Given the description of an element on the screen output the (x, y) to click on. 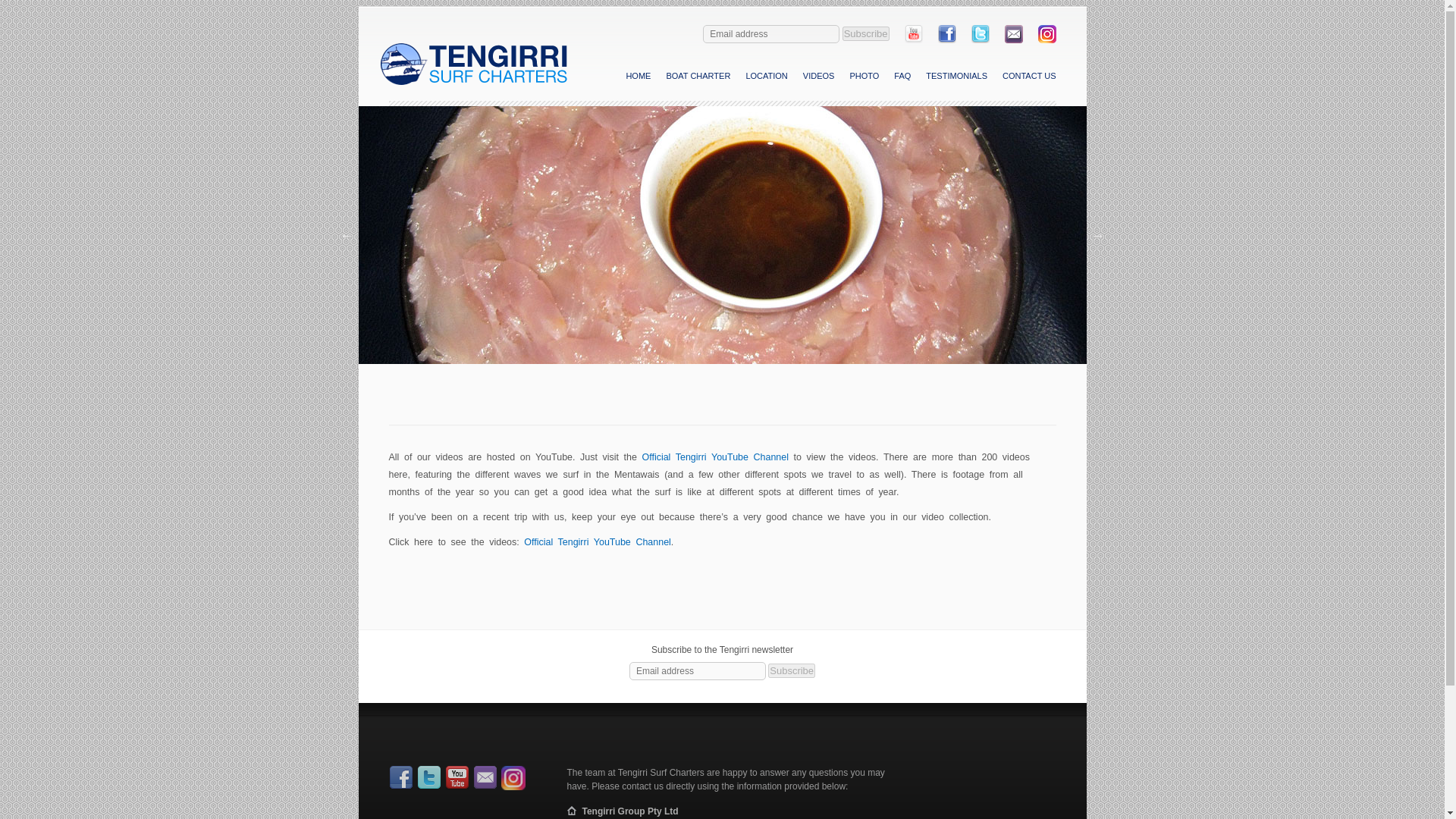
PHOTO (863, 74)
BOAT CHARTER (698, 74)
Subscribe (866, 33)
HOME (637, 74)
TESTIMONIALS (956, 74)
Subscribe (791, 670)
Instagram (1045, 40)
FAQ (902, 74)
Facebook (946, 40)
Subscribe (866, 33)
LOCATION (766, 74)
CONTACT US (1029, 74)
VIDEOS (818, 74)
Newsletter (1013, 40)
Youtube (912, 40)
